Given the description of an element on the screen output the (x, y) to click on. 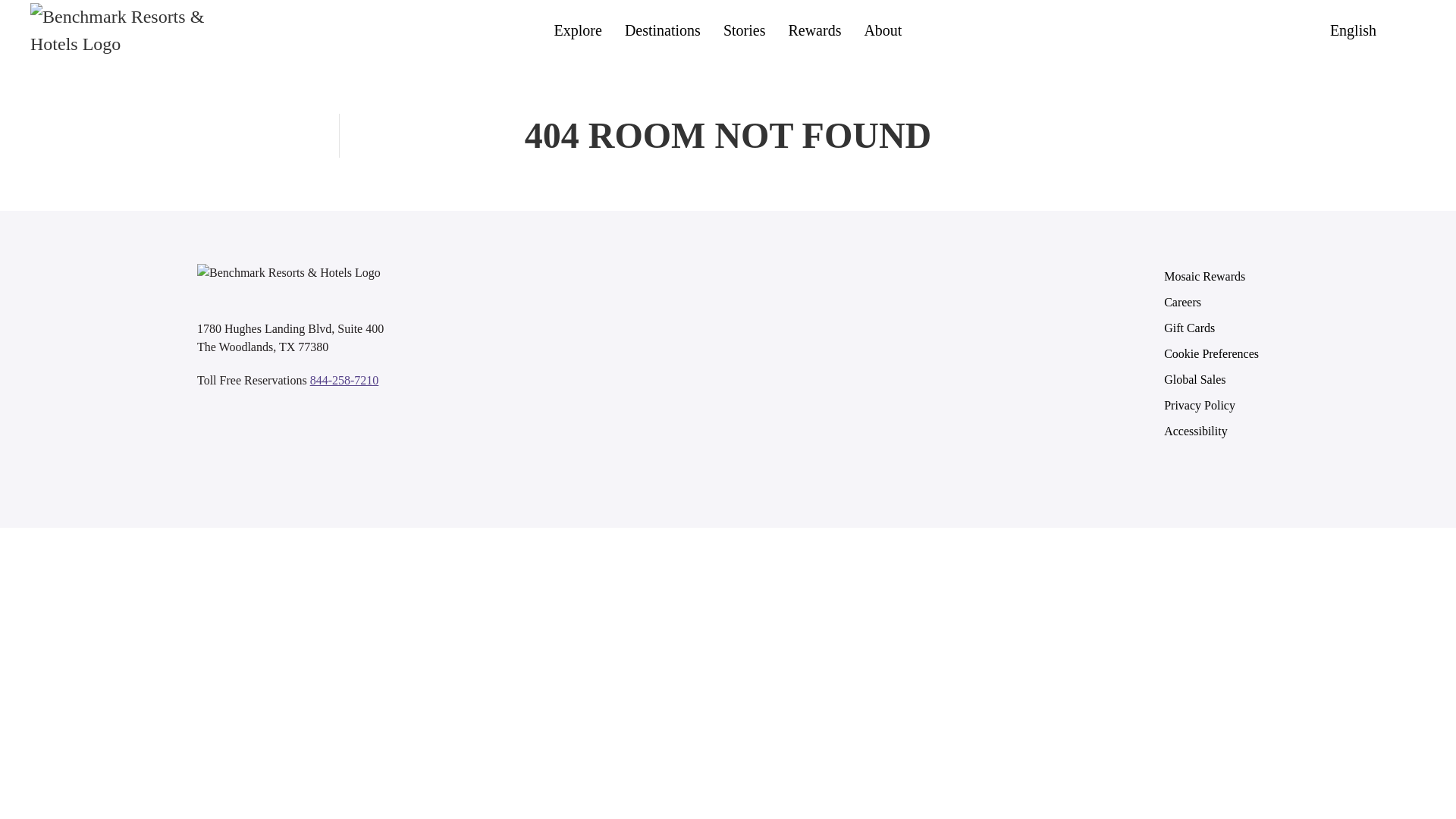
Mosaic Rewards (1211, 276)
Careers (1211, 302)
Cookie Preferences (1211, 353)
Global Sales (1211, 379)
Destinations (662, 30)
844-258-7210 (344, 379)
Gift Cards (1211, 328)
Privacy Policy (1211, 405)
Accessibility (1211, 431)
